Given the description of an element on the screen output the (x, y) to click on. 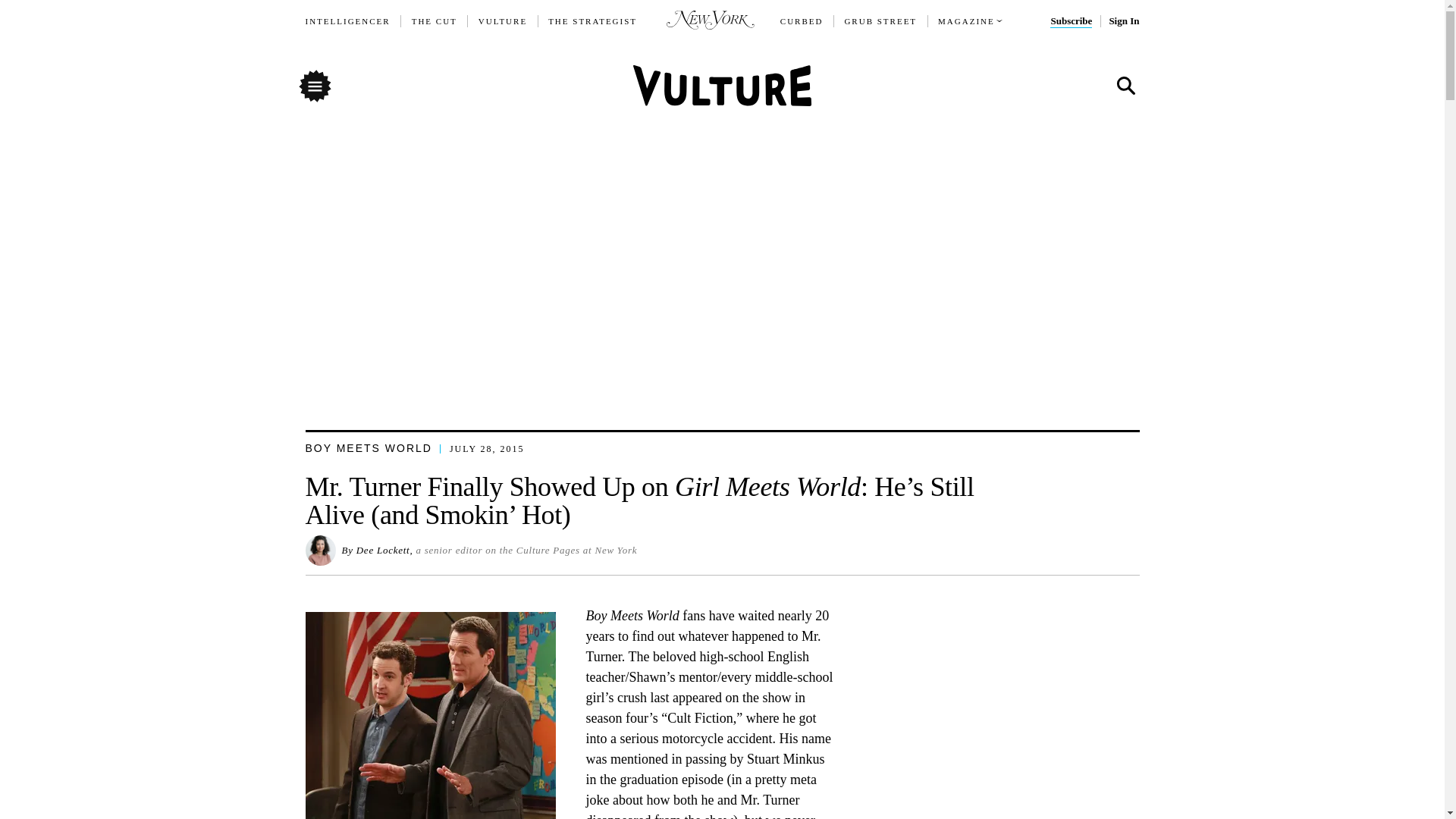
THE CUT (434, 21)
Sign In (1123, 21)
THE STRATEGIST (592, 21)
CURBED (802, 21)
Search (1124, 86)
Menu (314, 84)
MAGAZINE (965, 21)
VULTURE (503, 21)
GRUB STREET (880, 21)
Subscribe (1070, 21)
